Given the description of an element on the screen output the (x, y) to click on. 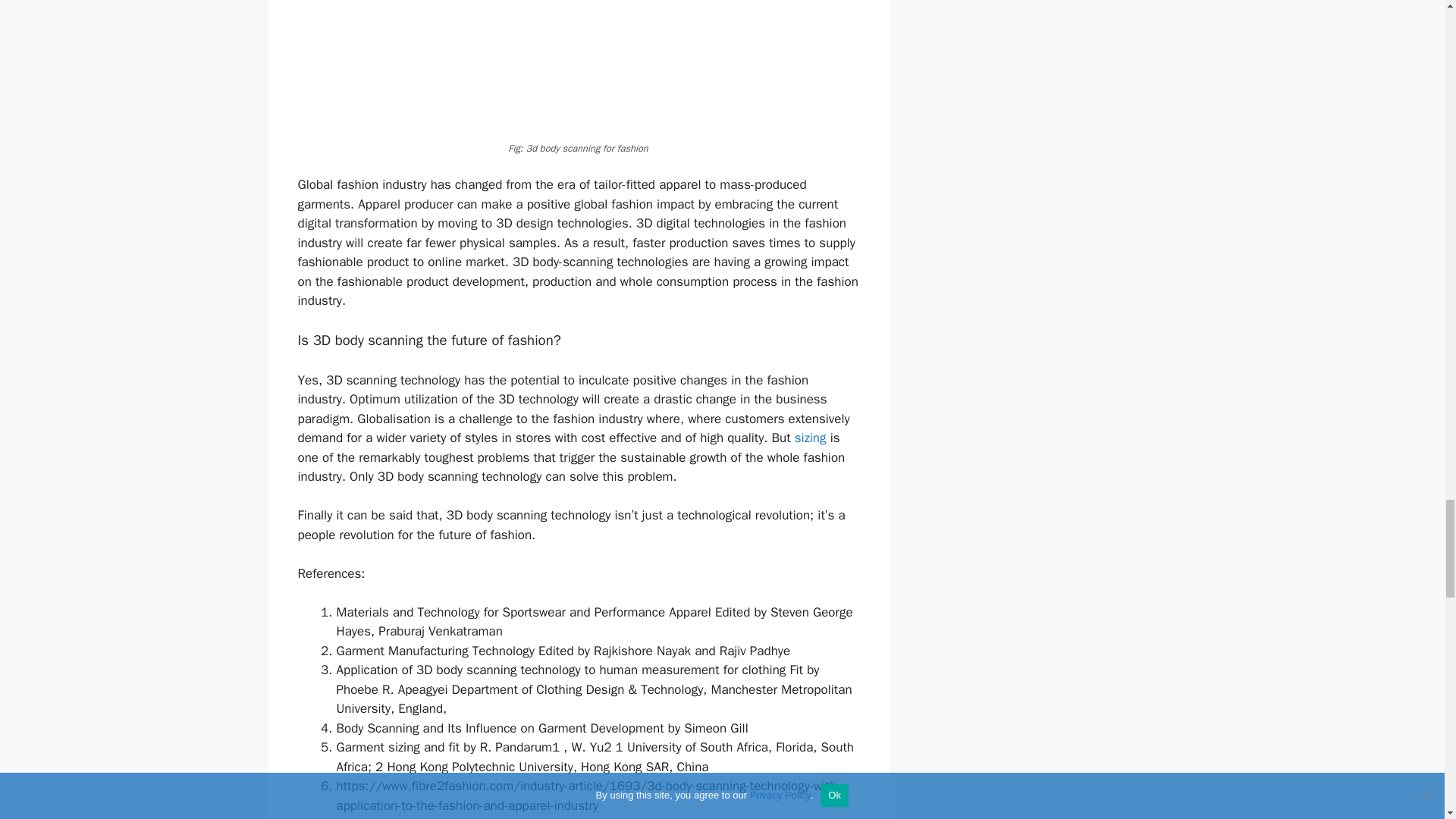
sizing (810, 437)
